Given the description of an element on the screen output the (x, y) to click on. 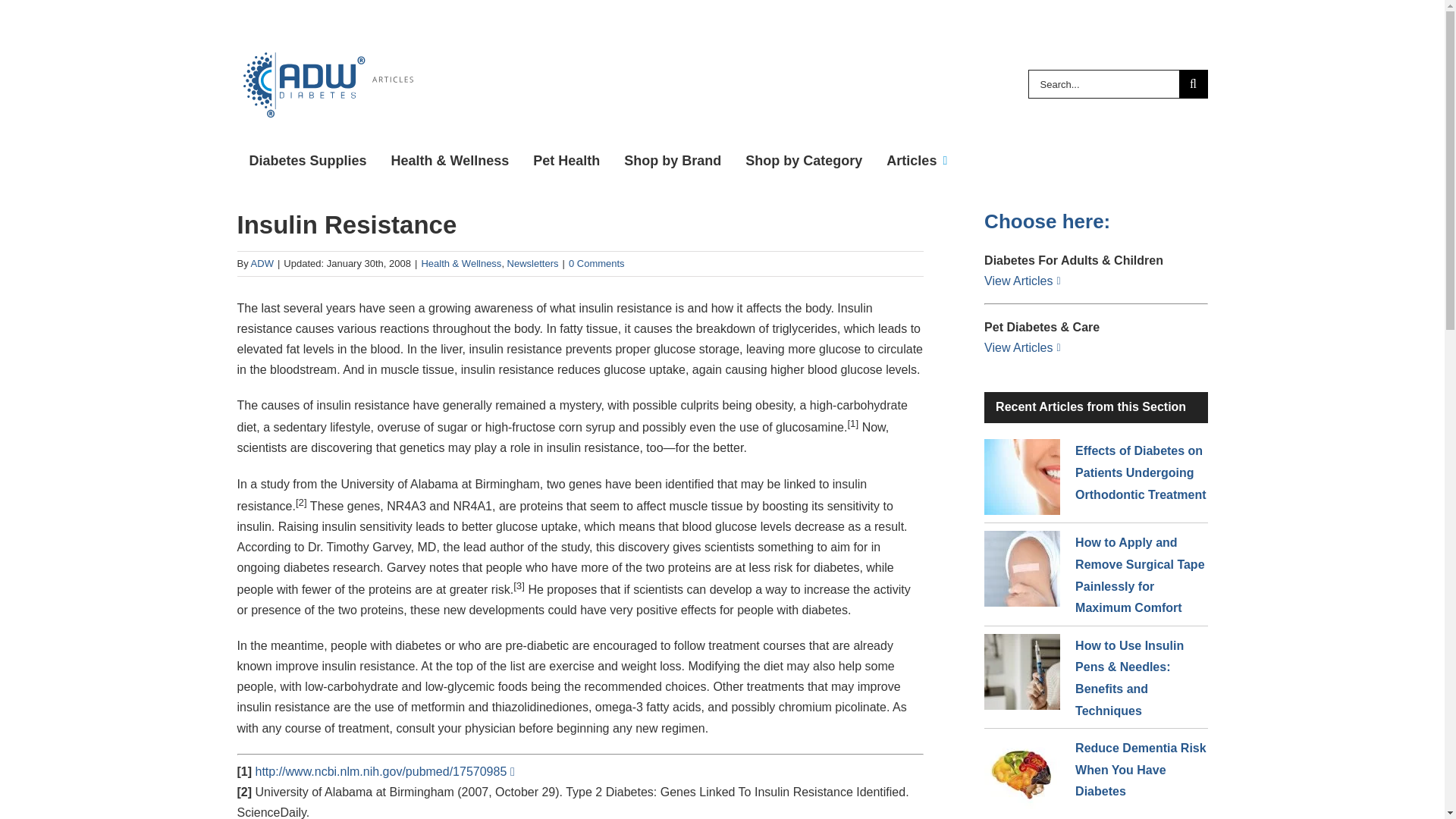
Pet Health (566, 160)
Diabetes Supplies (306, 160)
Shop by Brand (672, 160)
Articles (917, 160)
Posts by ADW (261, 263)
Accessibility Tools (19, 95)
ADW (261, 263)
Read More (385, 771)
Shop by Category (804, 160)
